Given the description of an element on the screen output the (x, y) to click on. 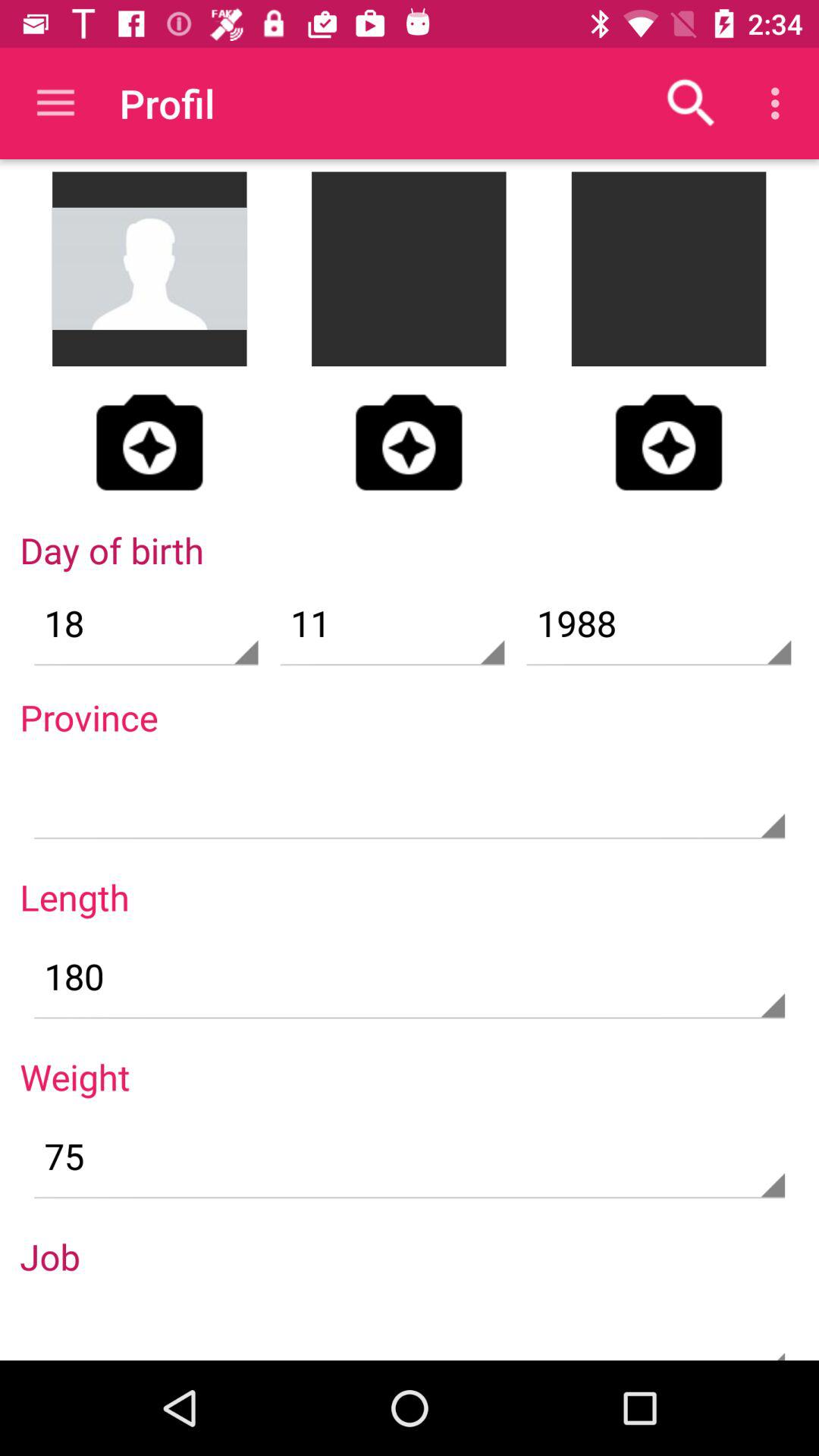
add picture (408, 442)
